Given the description of an element on the screen output the (x, y) to click on. 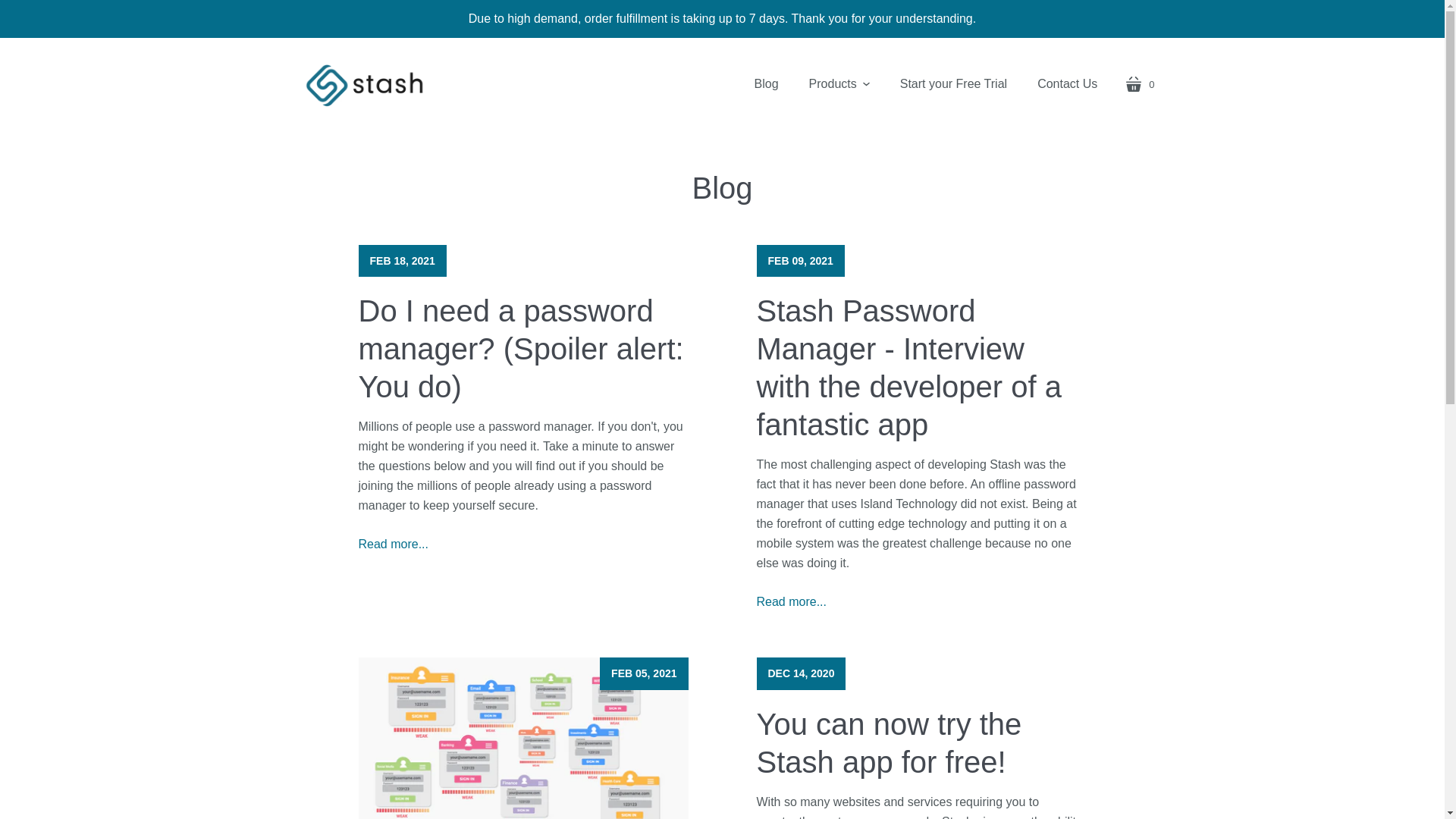
Read more... (792, 601)
Blog (766, 83)
Contact Us (1067, 83)
Products (839, 83)
You can now try the Stash app for free! (889, 742)
Start your Free Trial (1139, 84)
Read more... (953, 83)
